Given the description of an element on the screen output the (x, y) to click on. 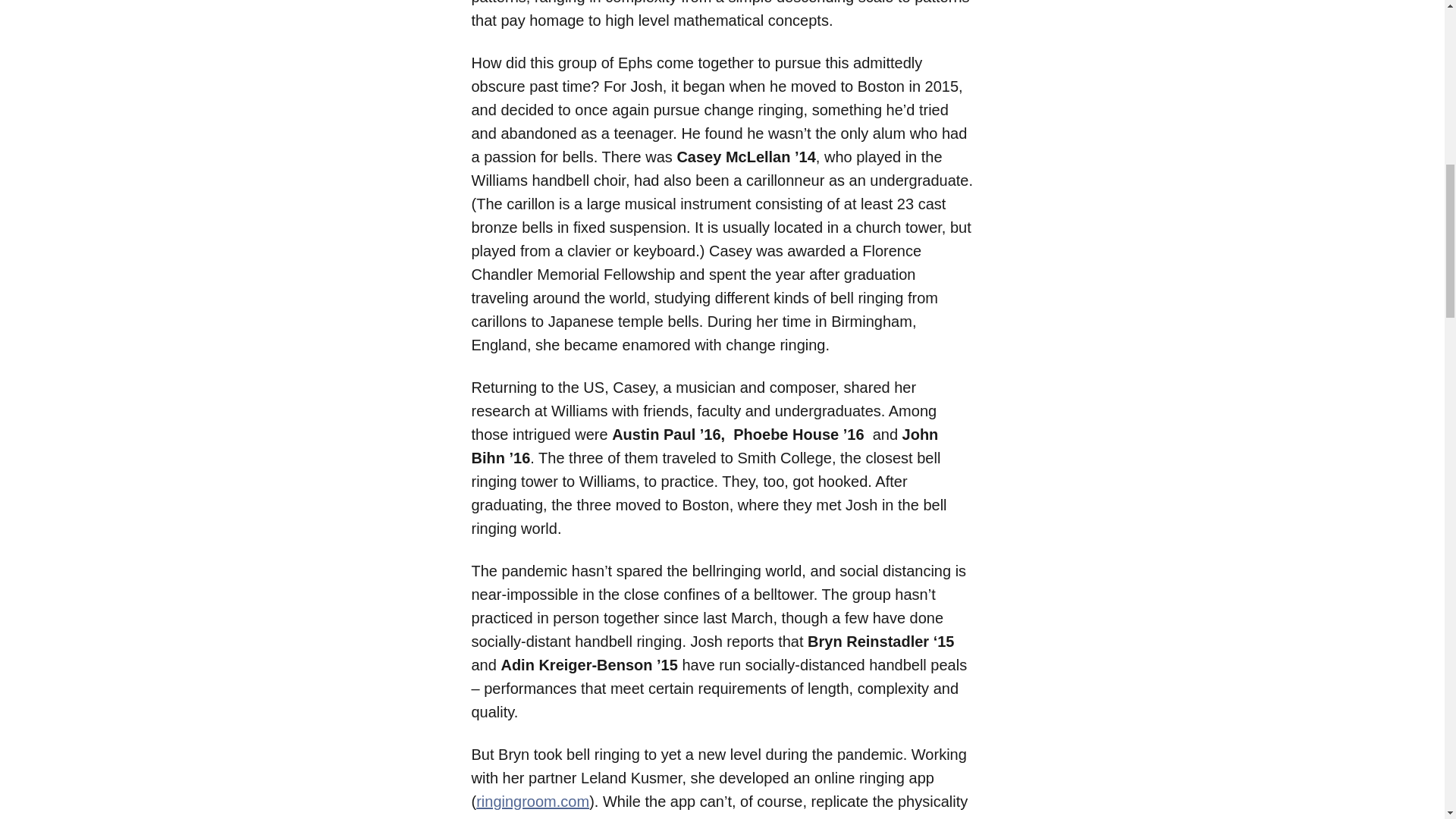
ringingroom.com (532, 801)
